Given the description of an element on the screen output the (x, y) to click on. 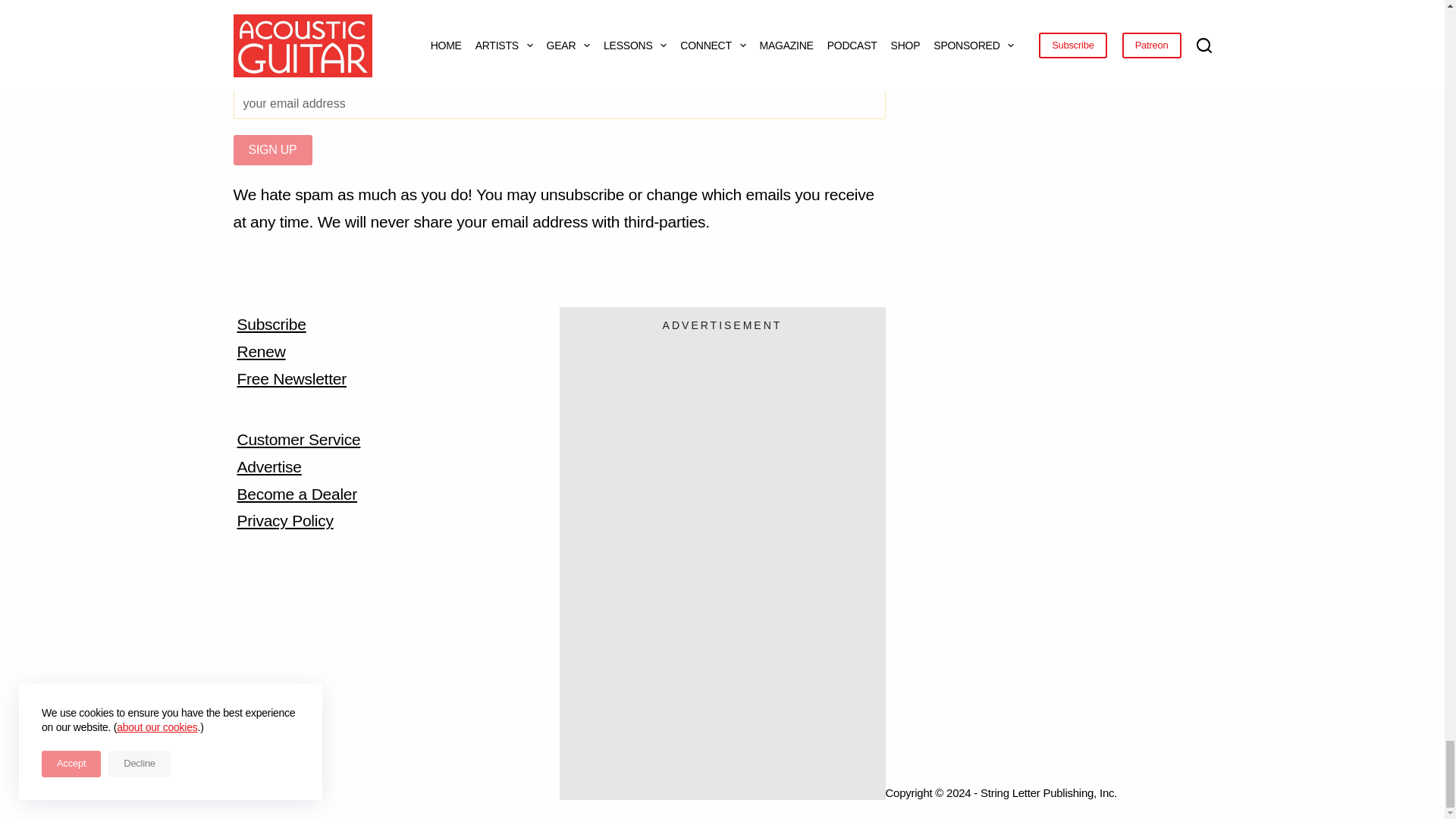
your email address (558, 103)
